Given the description of an element on the screen output the (x, y) to click on. 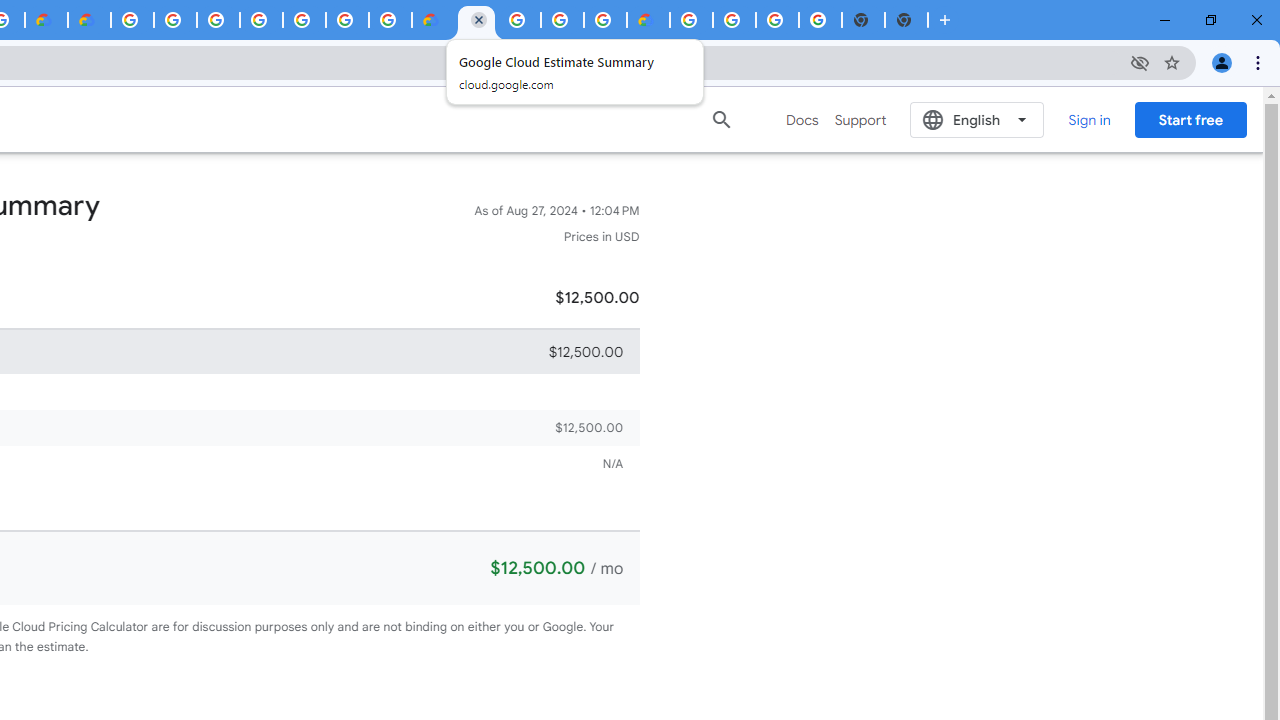
Support (860, 119)
